Given the description of an element on the screen output the (x, y) to click on. 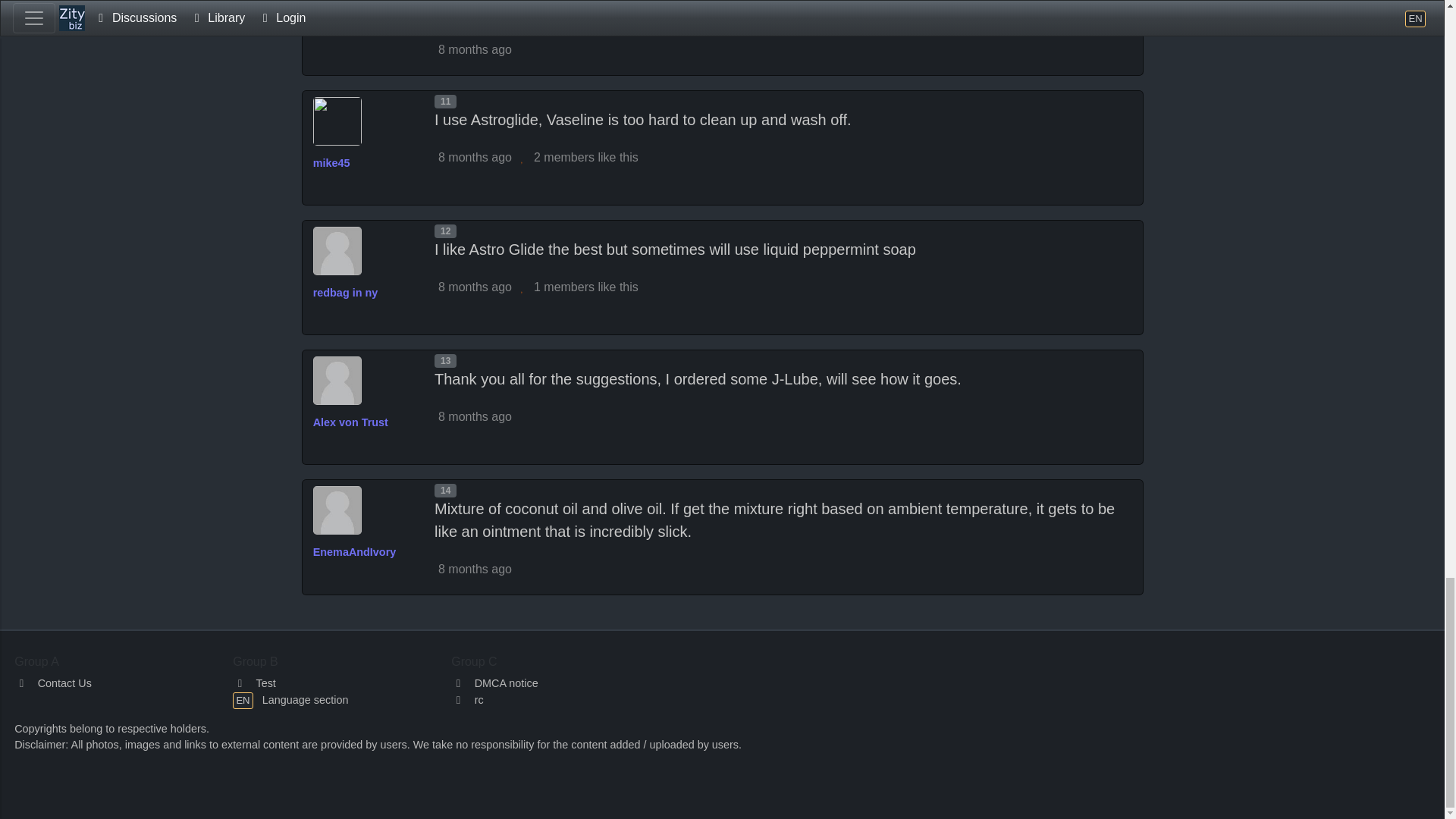
  Test (254, 683)
  Contact Us (52, 683)
EN   Language section (289, 699)
